Given the description of an element on the screen output the (x, y) to click on. 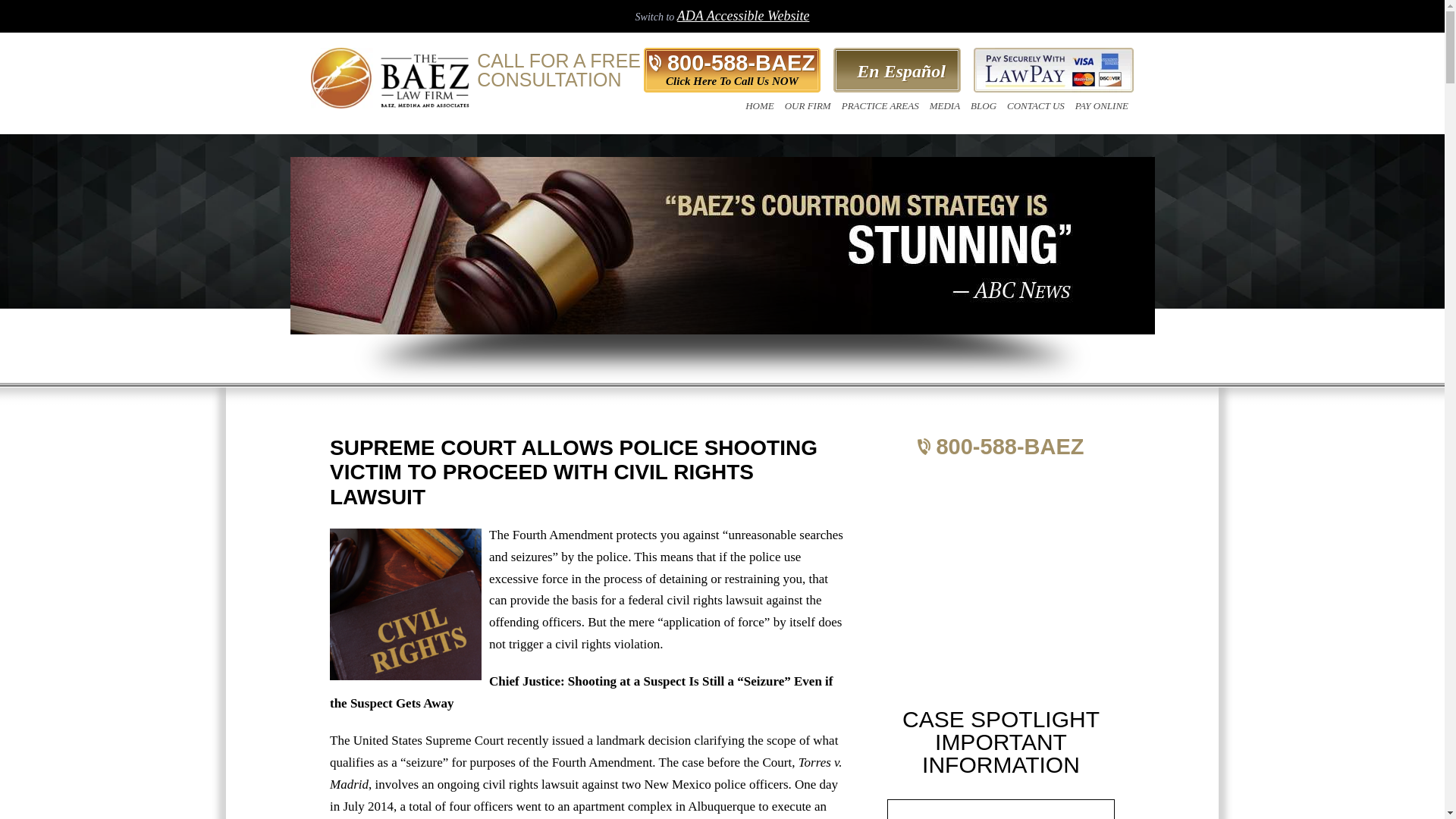
800-588-BAEZ (732, 64)
PRACTICE AREAS (879, 105)
Click Here To Call Us NOW (732, 81)
OUR FIRM (806, 105)
HOME (758, 105)
ADA Accessible Website (743, 15)
